Given the description of an element on the screen output the (x, y) to click on. 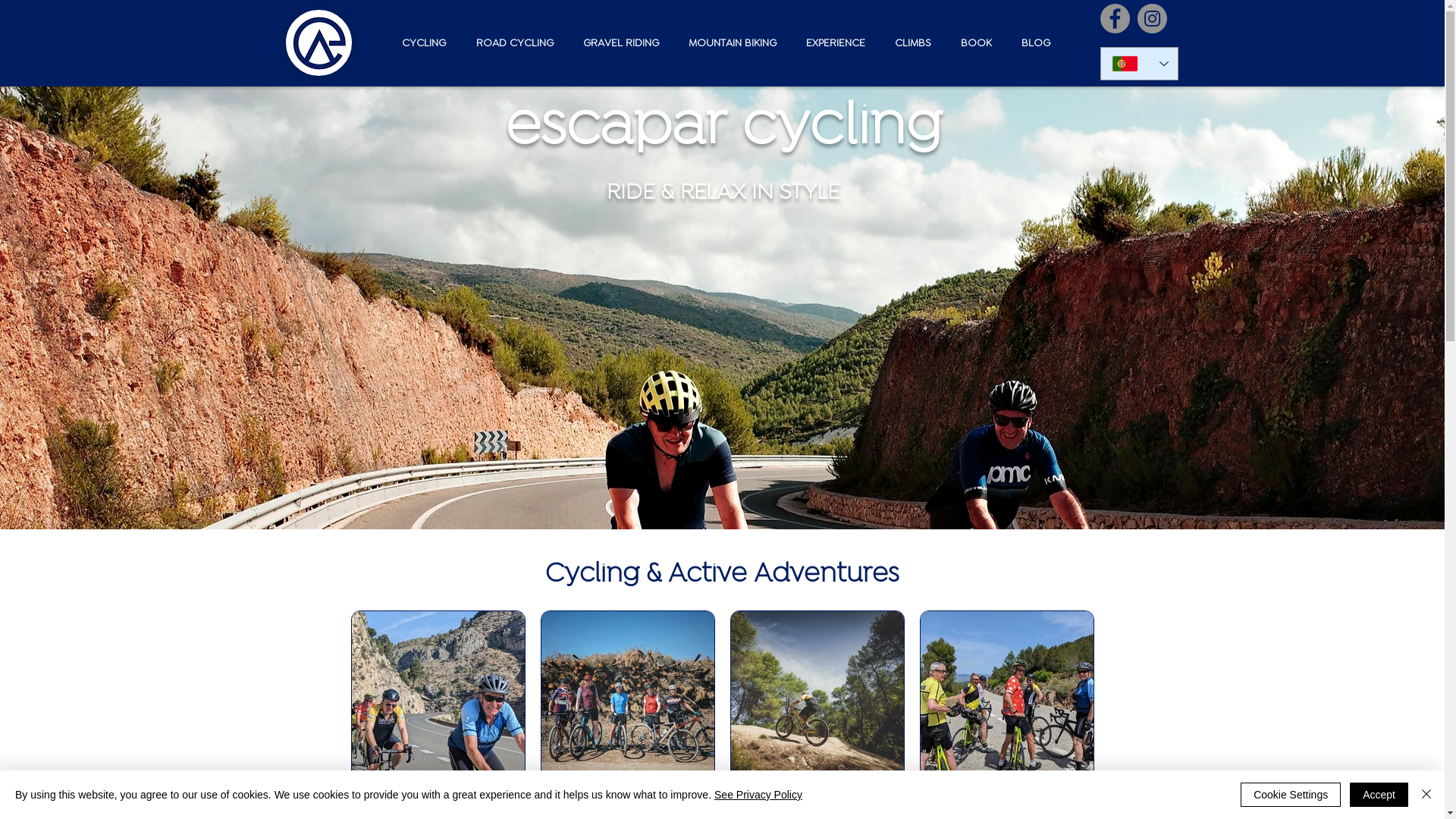
Accept Element type: text (1378, 794)
BOOK Element type: text (971, 43)
GRAVEL RIDING Element type: text (616, 43)
ROAD CYCLING Element type: text (510, 43)
MOUNTAIN BIKING Element type: text (728, 43)
CLIMBS Element type: text (909, 43)
EXPERIENCE Element type: text (831, 43)
BLOG Element type: text (1031, 43)
CYCLING Element type: text (419, 43)
Cookie Settings Element type: text (1290, 794)
See Privacy Policy Element type: text (758, 794)
